Given the description of an element on the screen output the (x, y) to click on. 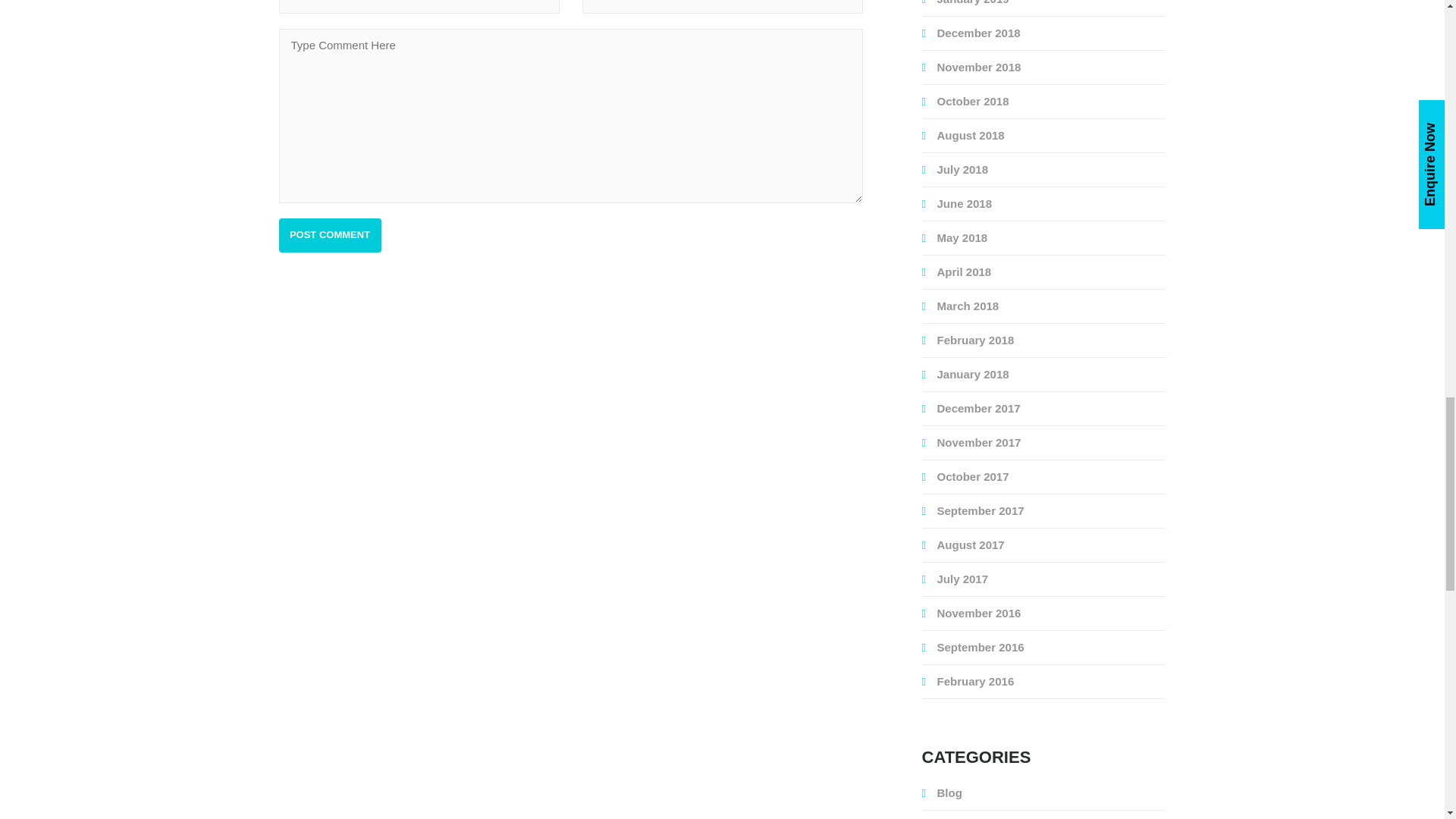
POST COMMENT (330, 235)
